Given the description of an element on the screen output the (x, y) to click on. 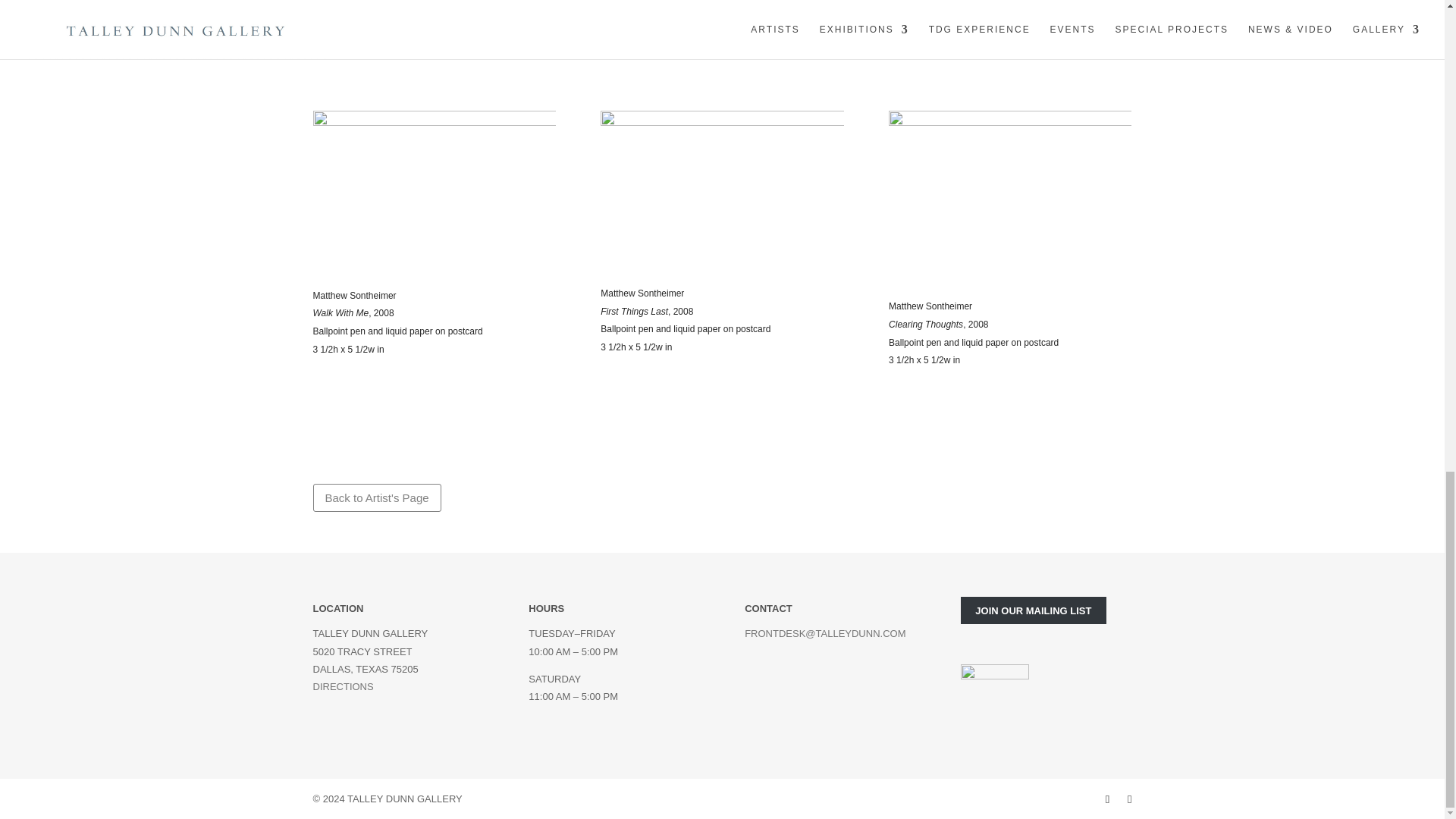
JOIN OUR MAILING LIST (1033, 610)
Back to Artist's Page (377, 497)
DIRECTIONS (342, 686)
